Given the description of an element on the screen output the (x, y) to click on. 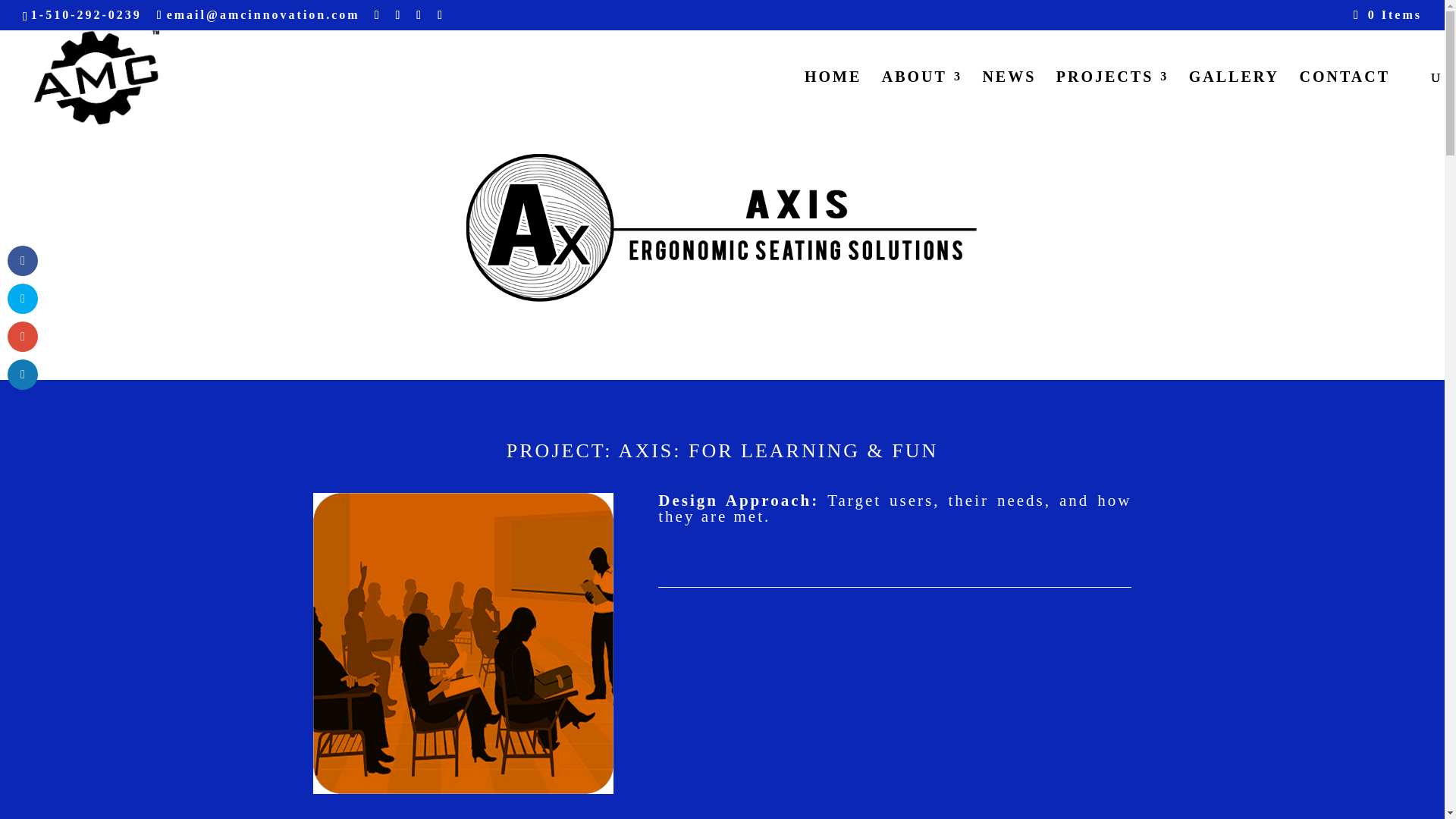
HOME (833, 100)
NEWS (1008, 100)
0 Items (1388, 14)
PROJECTS (1113, 100)
AXIS LOGO 001 (721, 227)
ABOUT (922, 100)
